Given the description of an element on the screen output the (x, y) to click on. 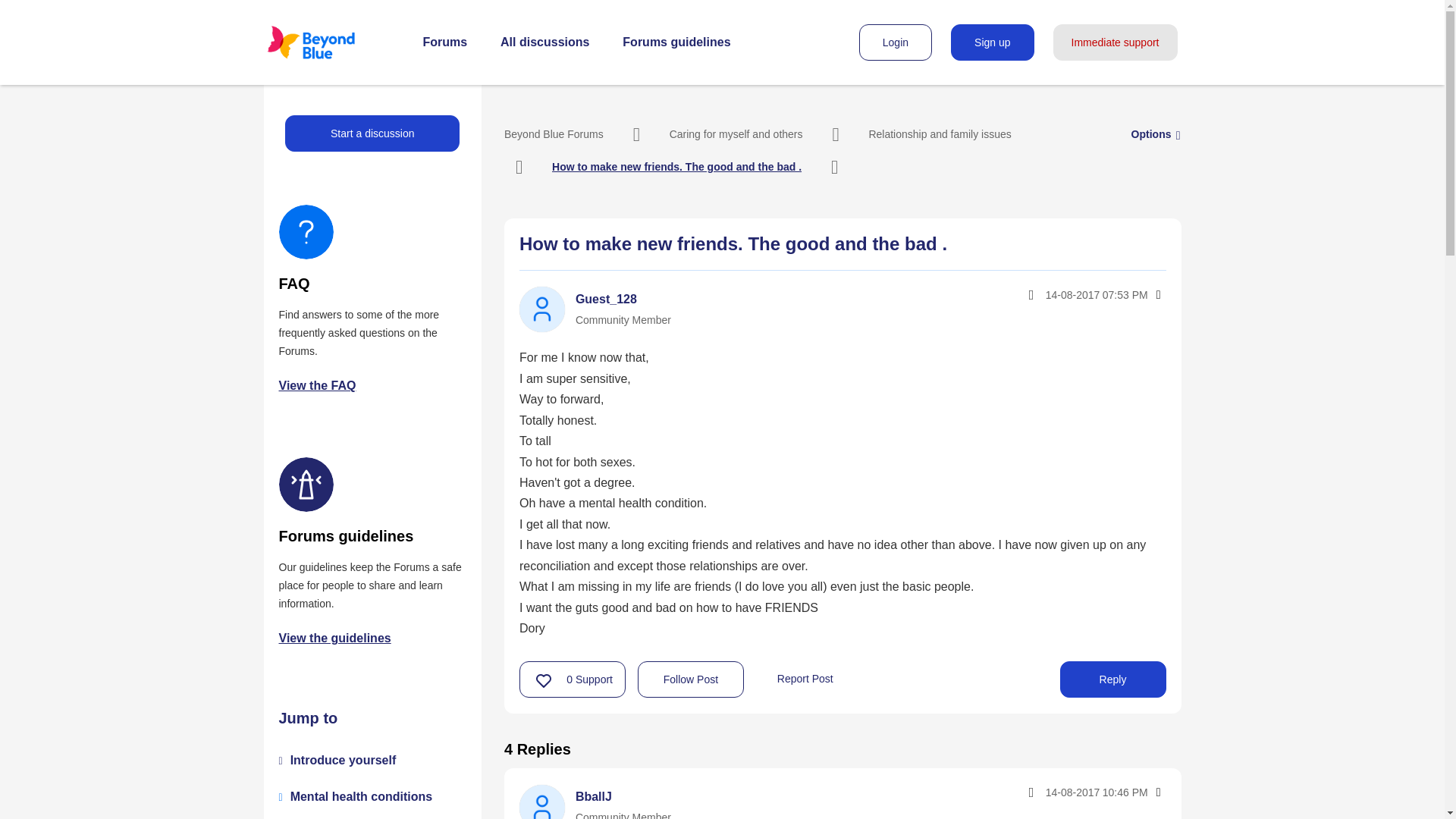
View the guidelines (335, 637)
Start a discussion (372, 133)
Click here to give support to this post. (543, 680)
All discussions (544, 41)
Forums (445, 41)
Sign up (991, 42)
Posted on (1063, 792)
Show option menu (1150, 133)
View the FAQ (317, 385)
Options (1150, 133)
Mental health conditions (360, 796)
Show option menu (1157, 294)
Introduce yourself (342, 759)
Show option menu (1157, 792)
Immediate support (1114, 42)
